Given the description of an element on the screen output the (x, y) to click on. 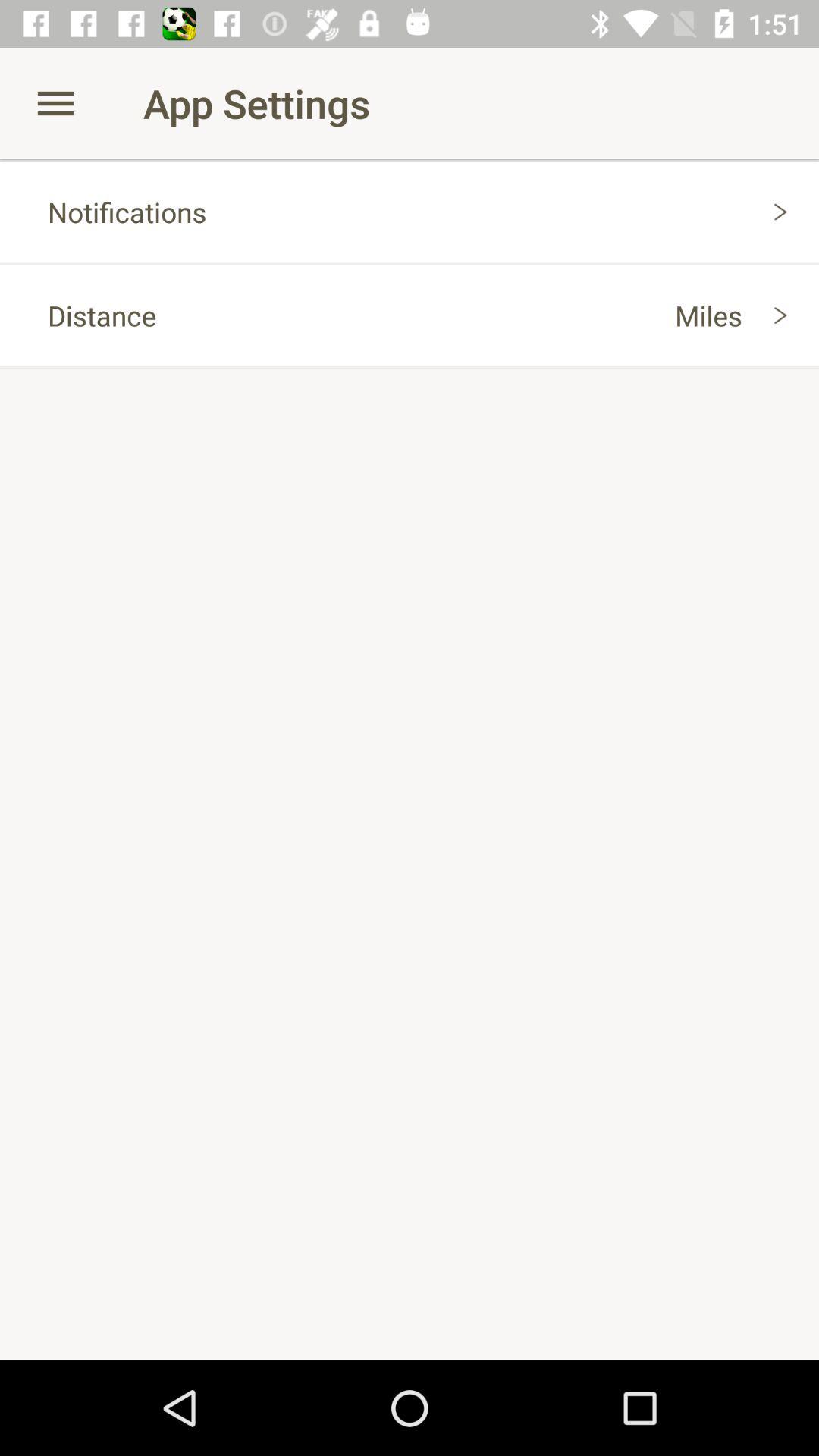
flip to notifications icon (409, 211)
